Given the description of an element on the screen output the (x, y) to click on. 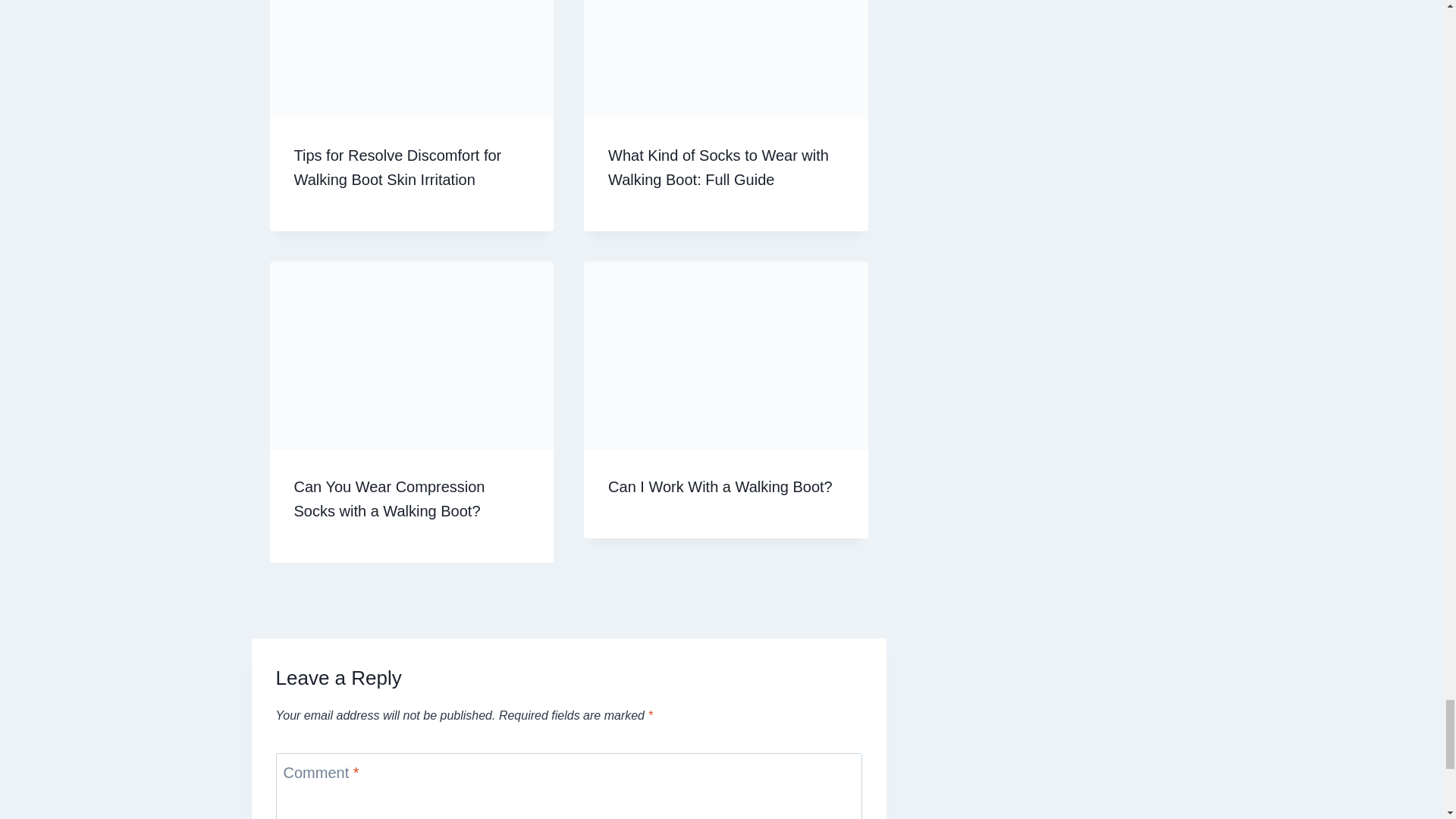
What Kind of Socks to Wear with Walking Boot: Full Guide (718, 167)
Can You Wear Compression Socks with a Walking Boot? (389, 498)
Can I Work With a Walking Boot? (720, 486)
Tips for Resolve Discomfort for Walking Boot Skin Irritation (398, 167)
